Given the description of an element on the screen output the (x, y) to click on. 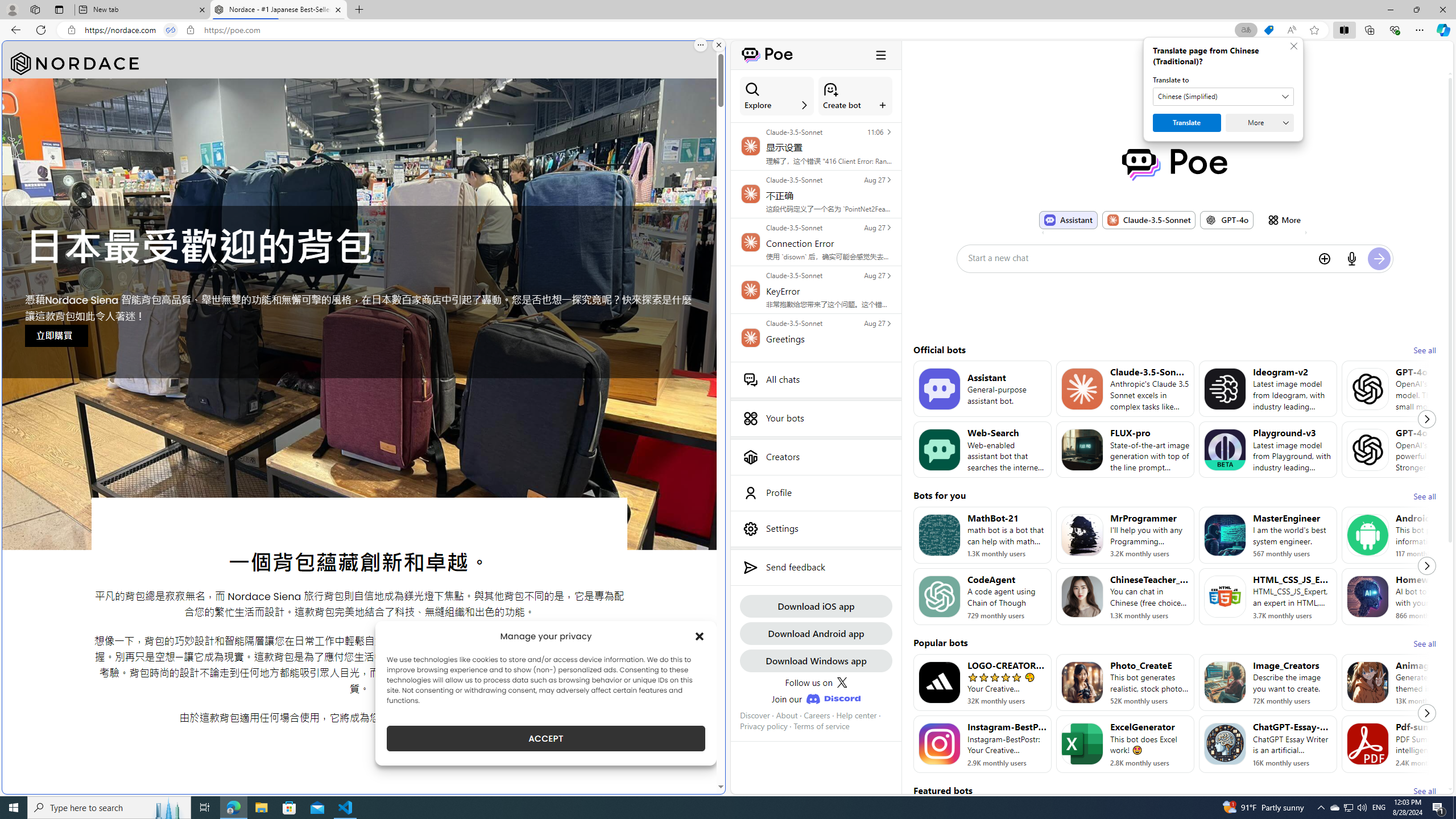
Download Windows app (815, 660)
Bot image for MrProgrammer (1081, 534)
Create bot (855, 95)
Explore (776, 95)
Start a new chat (1138, 257)
Close split screen. (719, 45)
Bot image for CodeAgent (938, 596)
ACCEPT (545, 738)
Download iOS app (815, 605)
Bot image for GPT-4o-Mini (1367, 388)
